Given the description of an element on the screen output the (x, y) to click on. 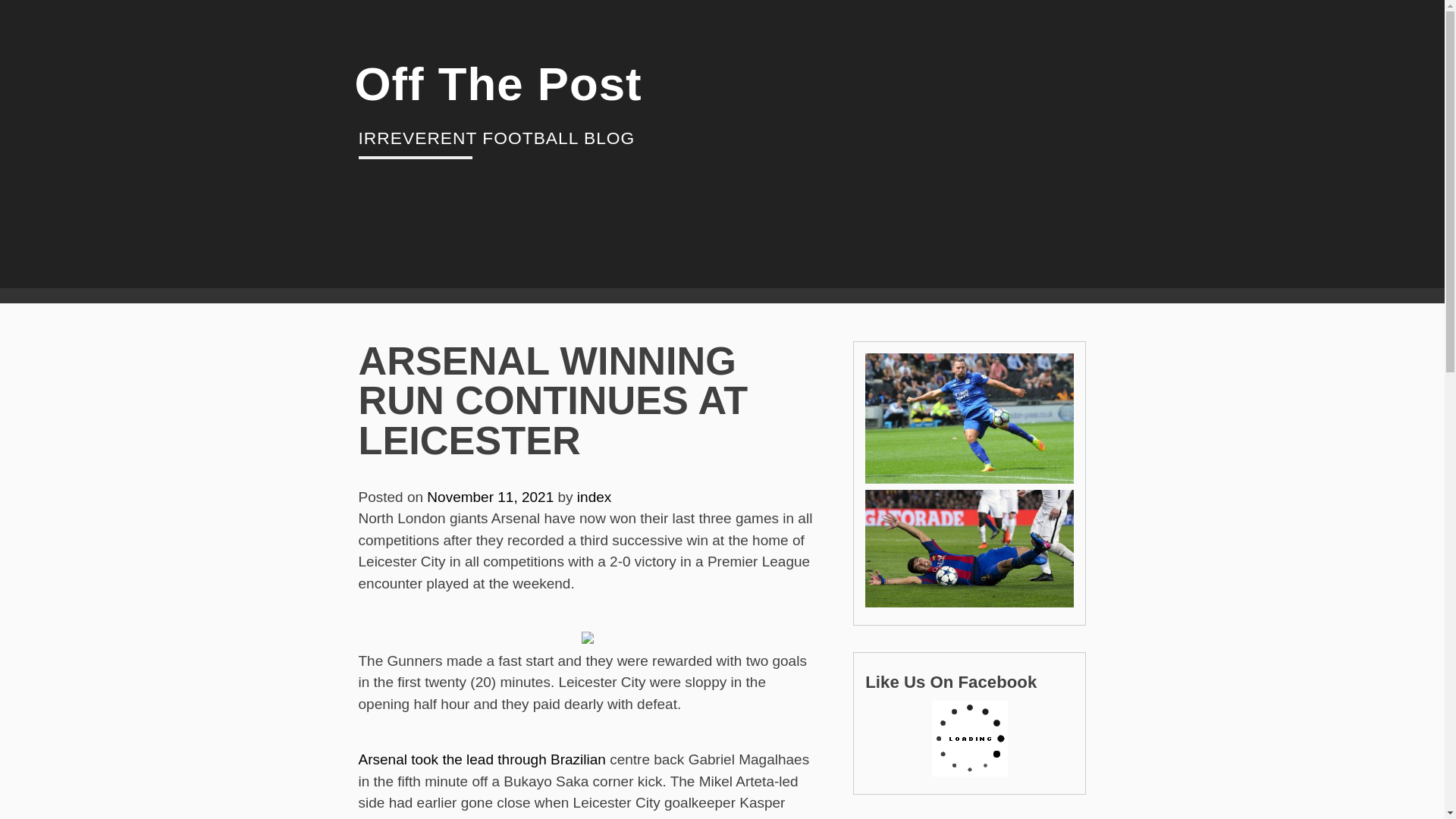
Off The Post (498, 83)
index (593, 496)
November 11, 2021 (489, 496)
Off The Post (498, 83)
Arsenal took the lead through Brazilian (481, 759)
